Given the description of an element on the screen output the (x, y) to click on. 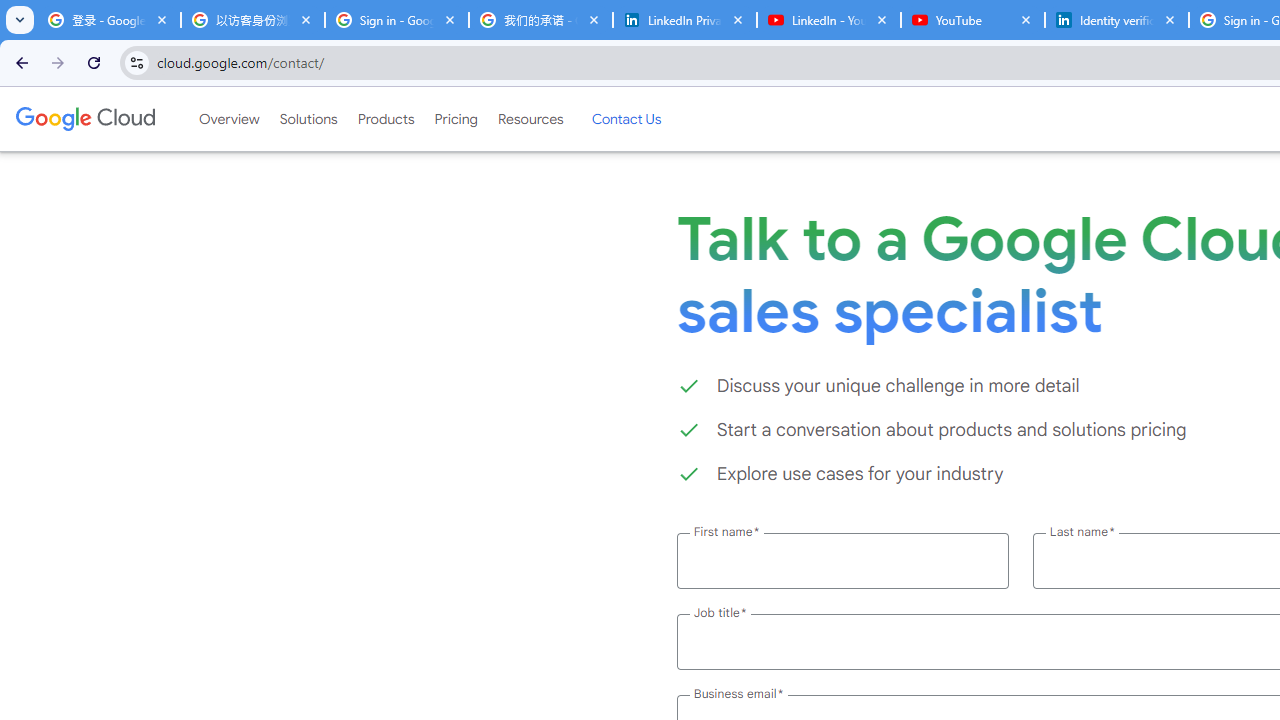
First name * (842, 560)
LinkedIn - YouTube (828, 20)
Pricing (455, 119)
Products (385, 119)
